Given the description of an element on the screen output the (x, y) to click on. 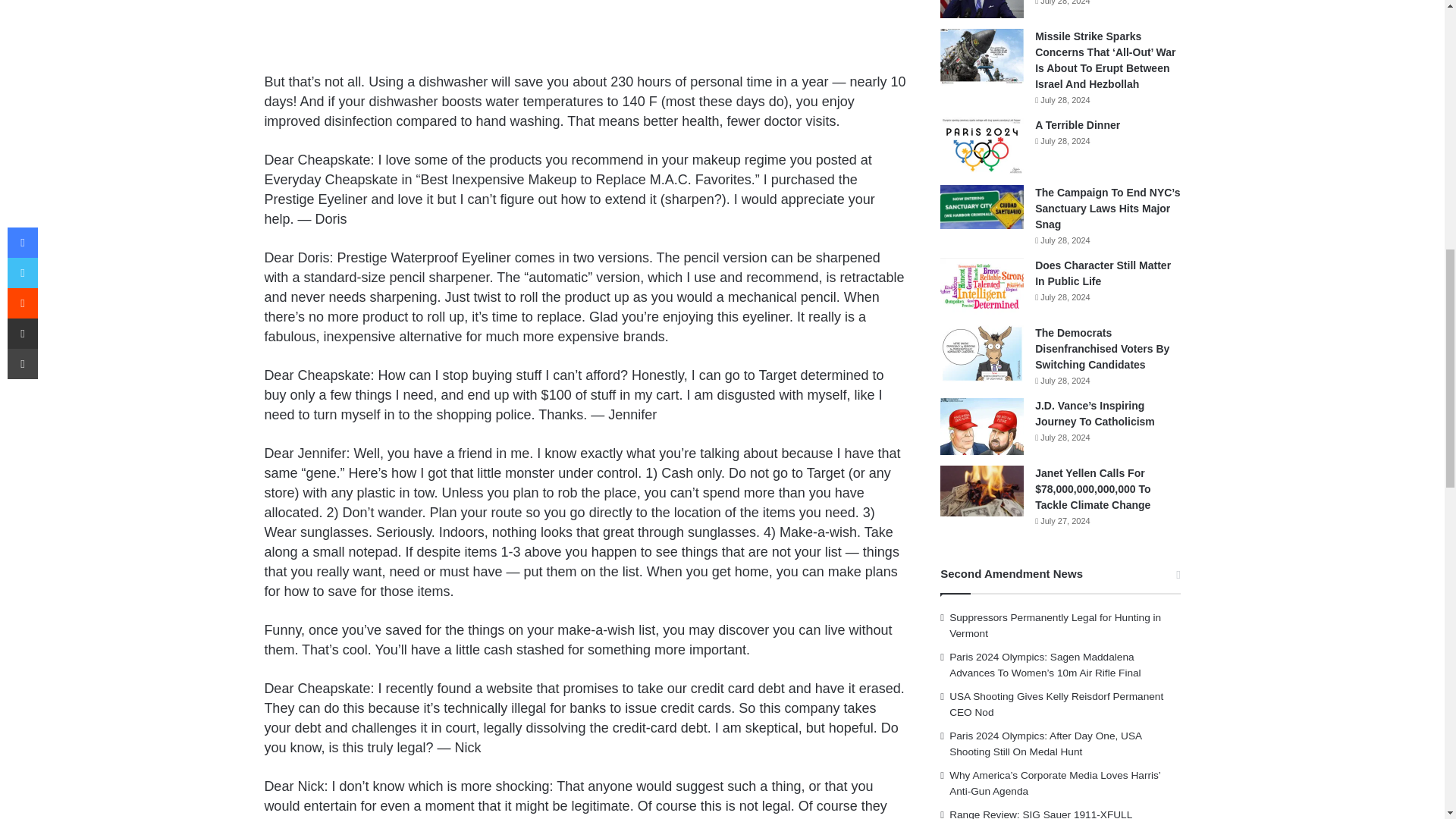
Advertisement (584, 33)
